Given the description of an element on the screen output the (x, y) to click on. 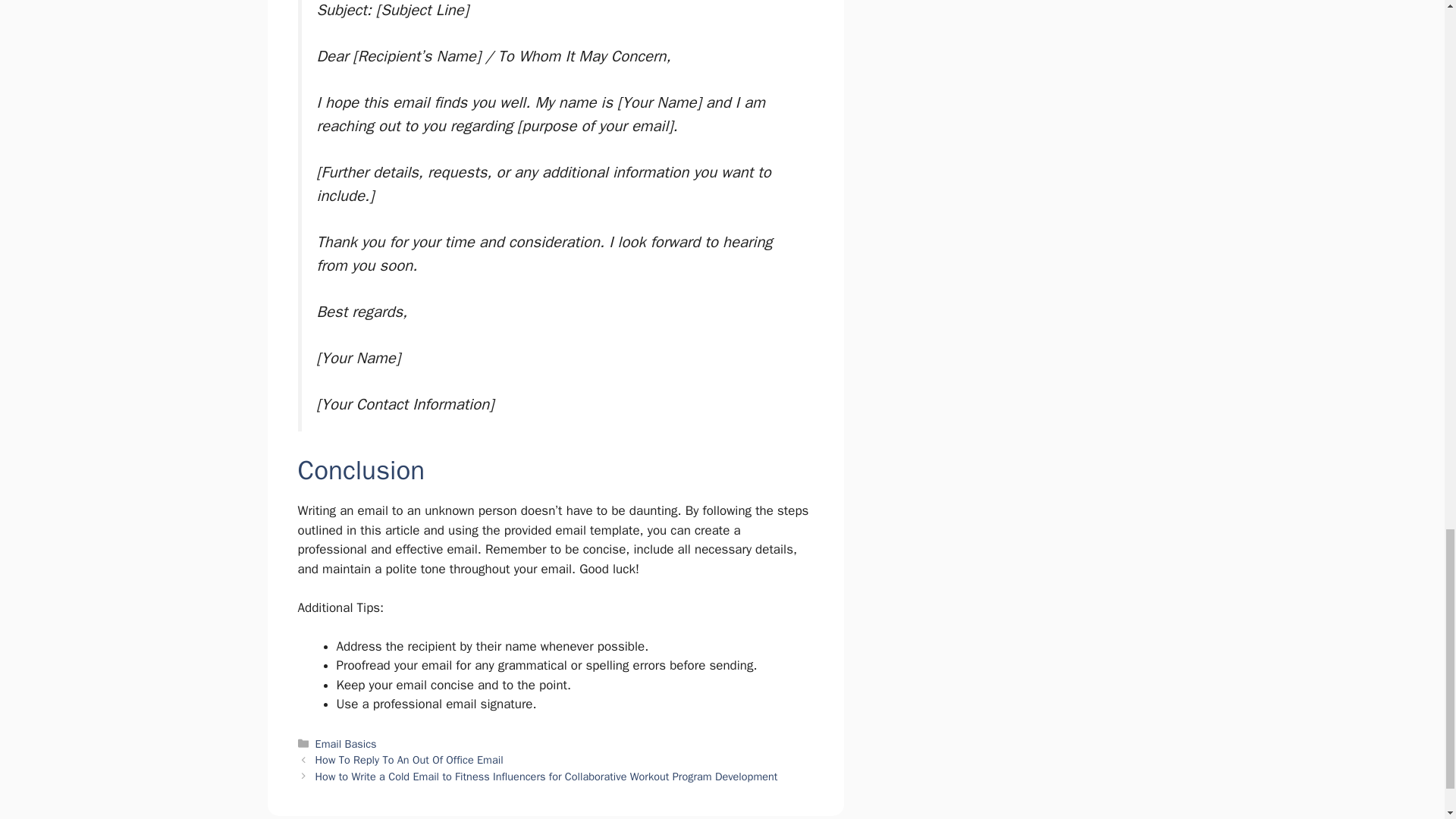
How To Reply To An Out Of Office Email (409, 759)
Email Basics (346, 744)
